Given the description of an element on the screen output the (x, y) to click on. 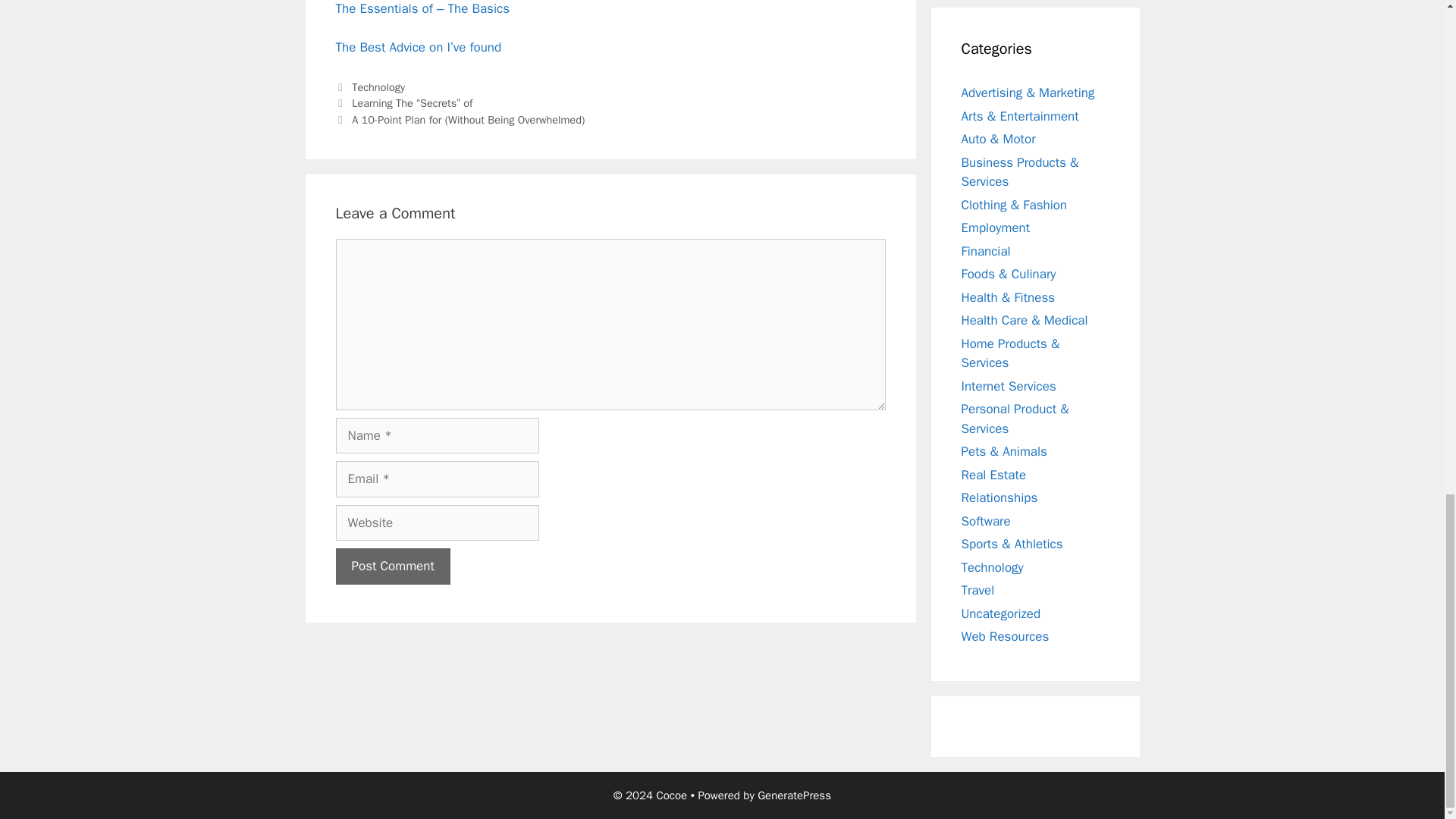
Post Comment (391, 565)
Previous (402, 102)
Post Comment (391, 565)
Technology (378, 87)
Next (459, 119)
